Given the description of an element on the screen output the (x, y) to click on. 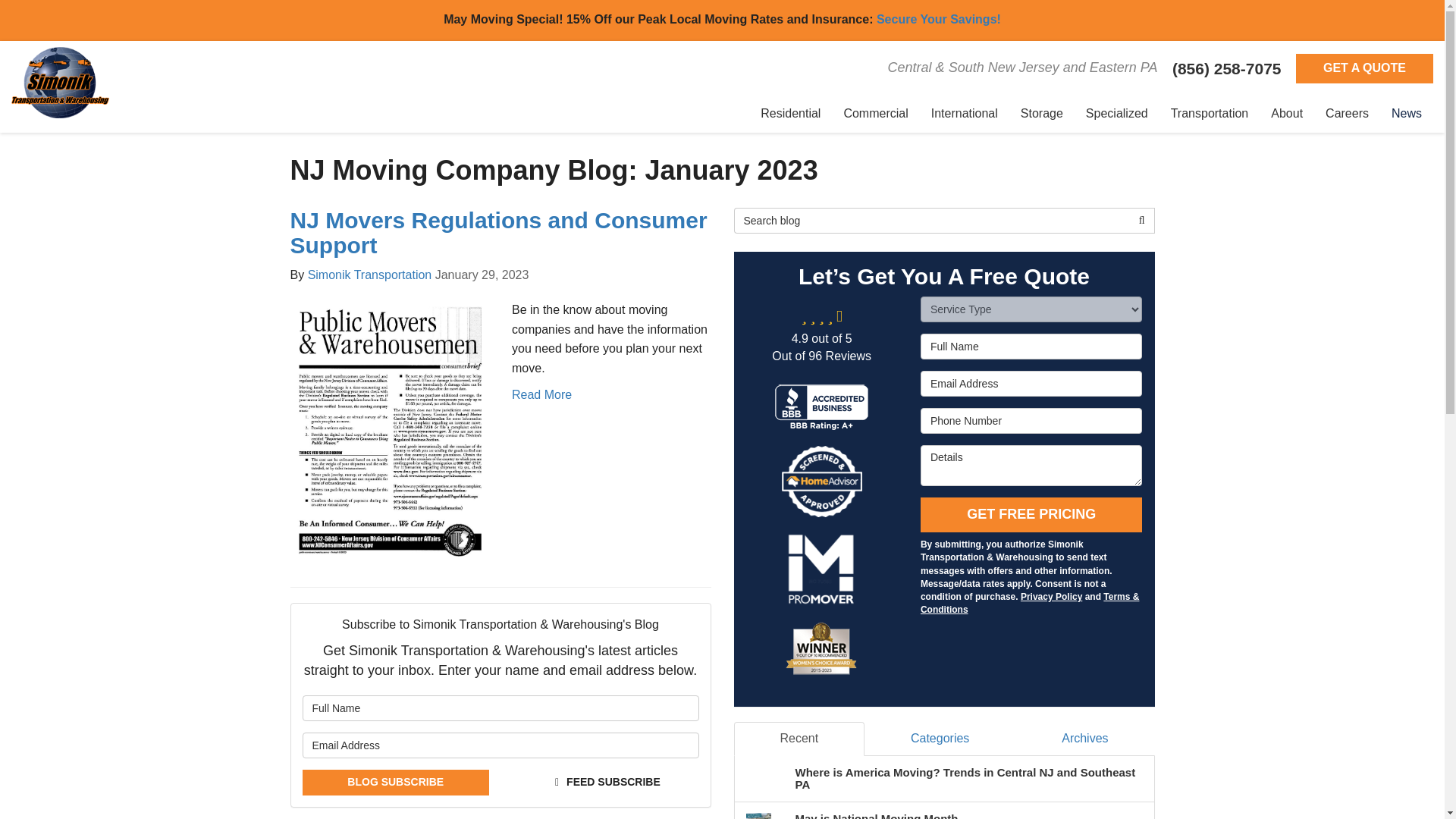
Specialized (1116, 113)
Residential (790, 113)
Commercial (874, 113)
Storage (1041, 113)
Secure Your Savings! (938, 19)
International (964, 113)
GET A QUOTE (1363, 68)
GET A QUOTE (1363, 68)
